Given the description of an element on the screen output the (x, y) to click on. 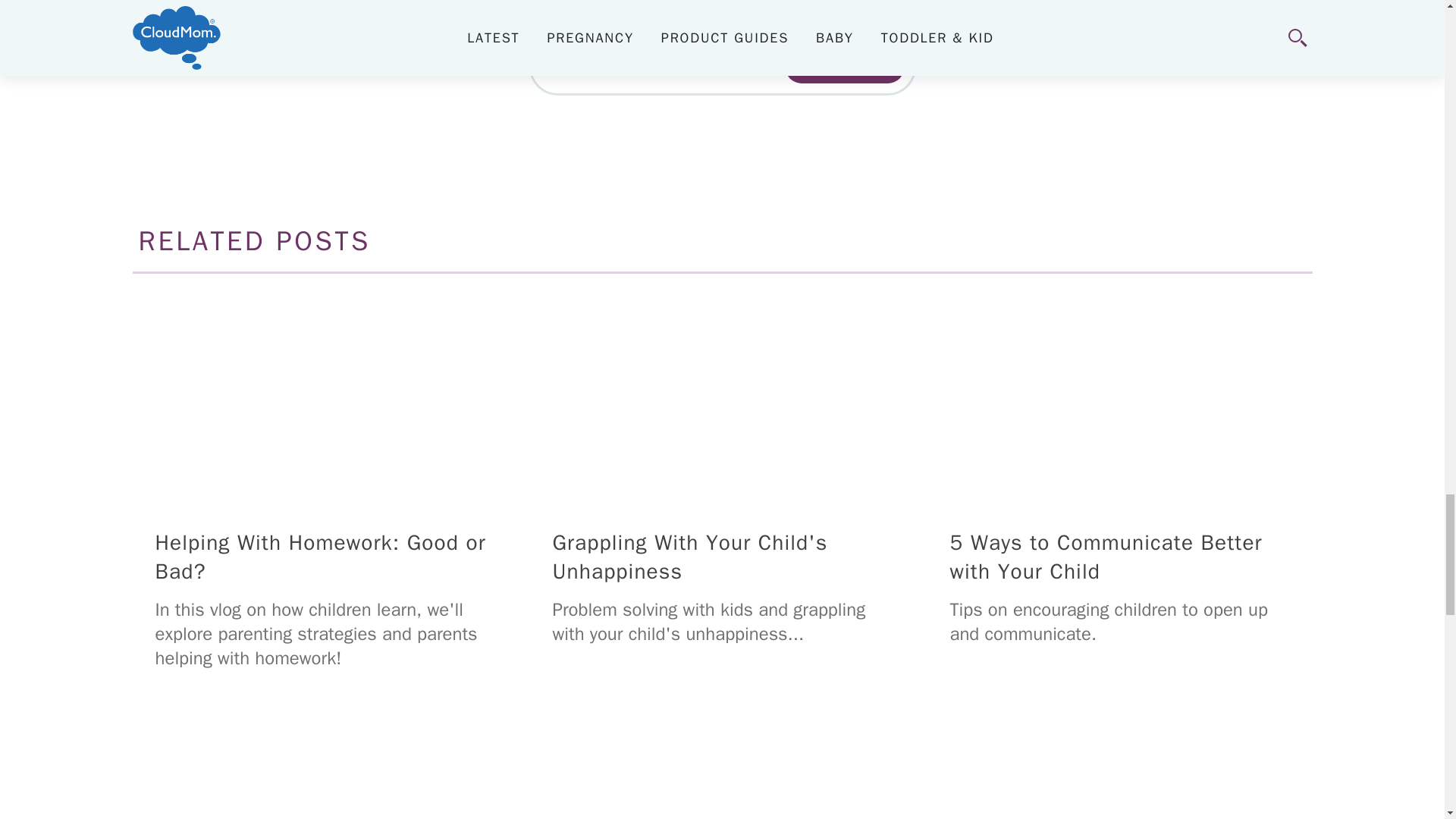
Track My Baby (844, 66)
Creating a Parenting Partnership (1118, 771)
5 Ways to Communicate Better with Your Child (1118, 397)
Helping With Homework: Good or Bad? (324, 397)
Grappling With Your Child's Unhappiness (721, 397)
How To Multitask (324, 771)
Why Being Enthusiastic Matters (721, 771)
